Given the description of an element on the screen output the (x, y) to click on. 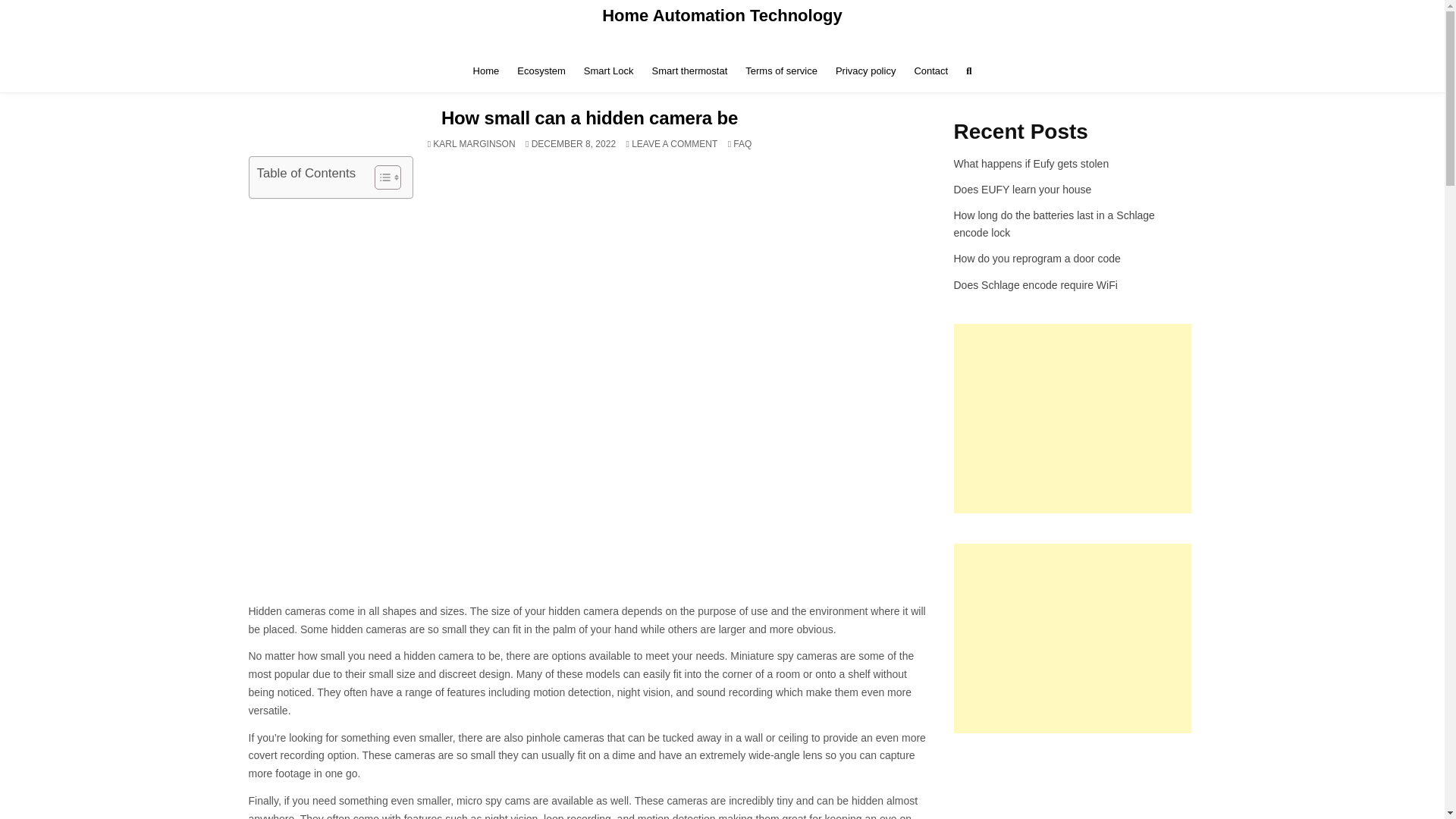
What happens if Eufy gets stolen (1031, 163)
KARL MARGINSON (473, 143)
Home (674, 143)
How small can a hidden camera be (486, 70)
How long do the batteries last in a Schlage encode lock (589, 117)
Terms of service (1053, 223)
Does Schlage encode require WiFi (781, 70)
Home Automation Technology (1035, 285)
Contact (722, 15)
Ecosystem (930, 70)
FAQ (541, 70)
How do you reprogram a door code (742, 143)
Privacy policy (1037, 258)
Does EUFY learn your house (865, 70)
